Given the description of an element on the screen output the (x, y) to click on. 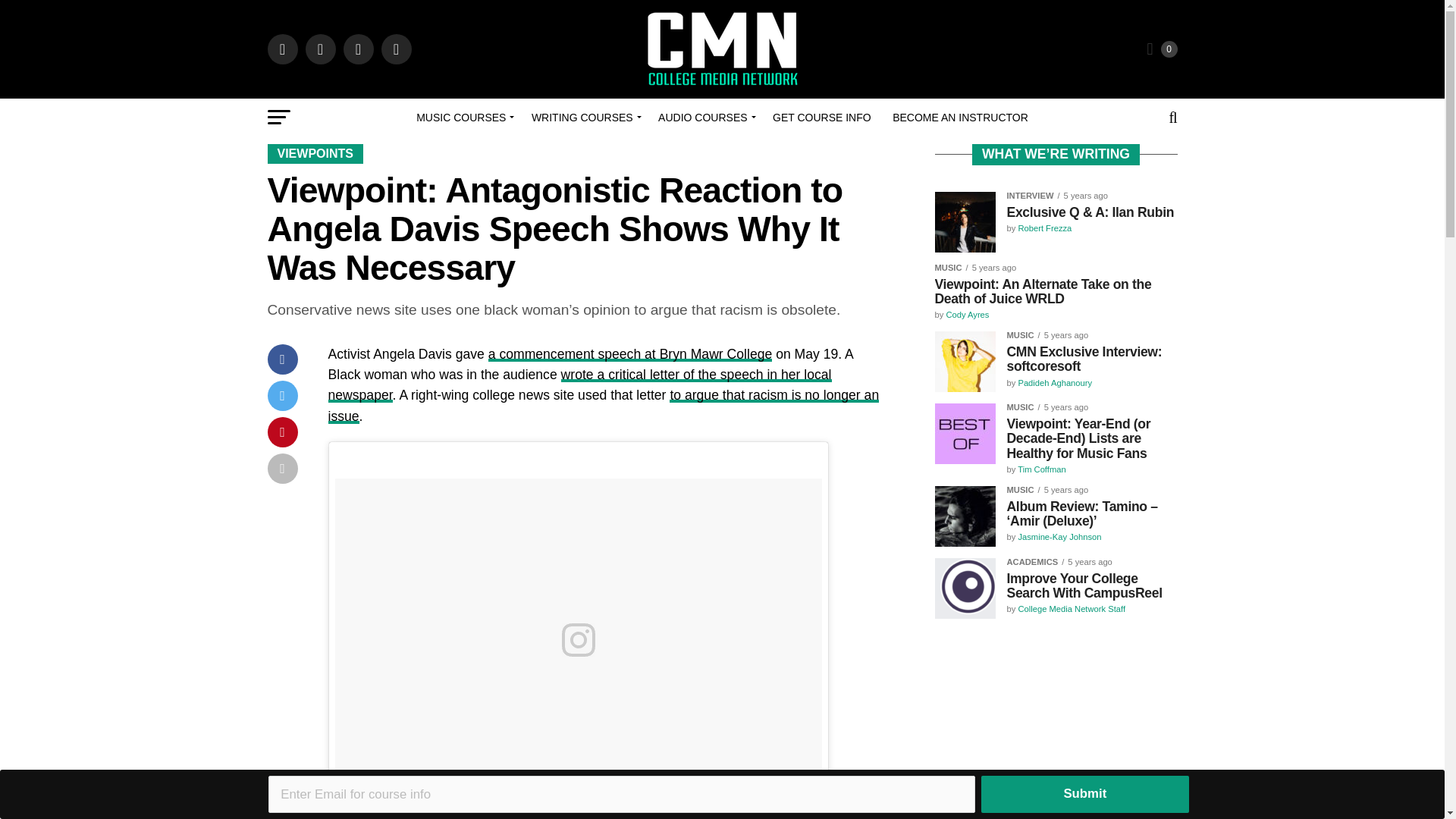
AUDIO COURSES (704, 117)
Posts by Padideh Aghanoury (1054, 382)
MUSIC COURSES (462, 117)
WRITING COURSES (584, 117)
wrote a critical letter of the speech in her local newspaper (579, 384)
GET COURSE INFO (821, 117)
Posts by Jasmine-Kay Johnson (1058, 536)
Posts by Tim Coffman (1041, 469)
Posts by College Media Network Staff (1071, 608)
a commencement speech at Bryn Mawr College (630, 353)
Posts by Robert Frezza (1044, 227)
to argue that racism is no longer an issue (603, 405)
Posts by Cody Ayres (966, 314)
BECOME AN INSTRUCTOR (959, 117)
